Given the description of an element on the screen output the (x, y) to click on. 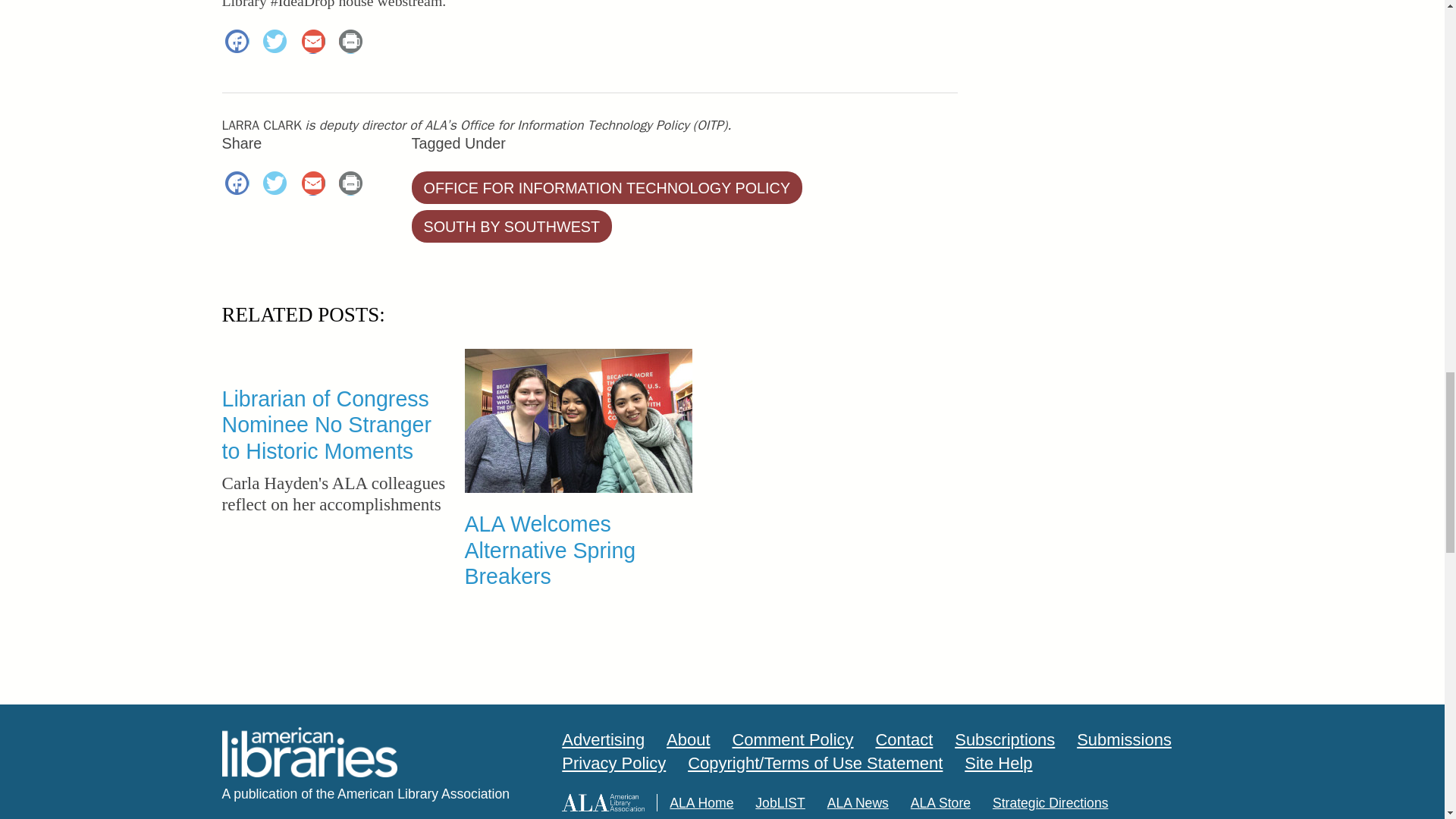
Facebook (240, 185)
Print (353, 185)
Email (315, 43)
Twitter (278, 43)
Facebook (240, 43)
Print (353, 43)
Email (315, 185)
Twitter (278, 185)
